Given the description of an element on the screen output the (x, y) to click on. 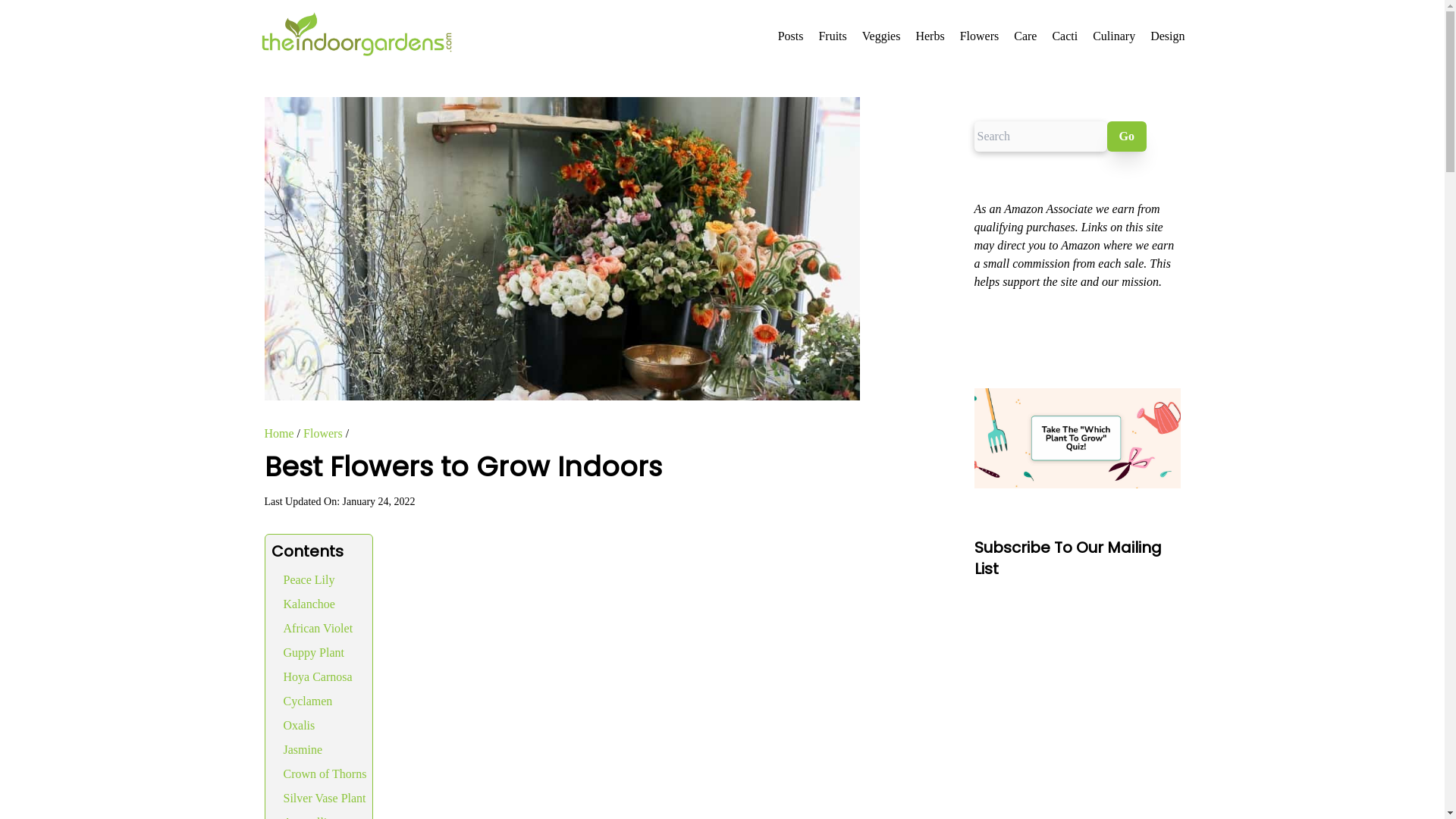
Jasmine (303, 748)
Flowers (322, 432)
Cacti (1064, 35)
Fruits (831, 35)
Home (278, 432)
Care (1024, 35)
Kalanchoe (308, 603)
Culinary (1114, 35)
Hoya Carnosa (317, 676)
Herbs (929, 35)
Crown of Thorns (324, 773)
Flowers (978, 35)
African Violet (318, 627)
Guppy Plant (313, 652)
Cyclamen (308, 700)
